Given the description of an element on the screen output the (x, y) to click on. 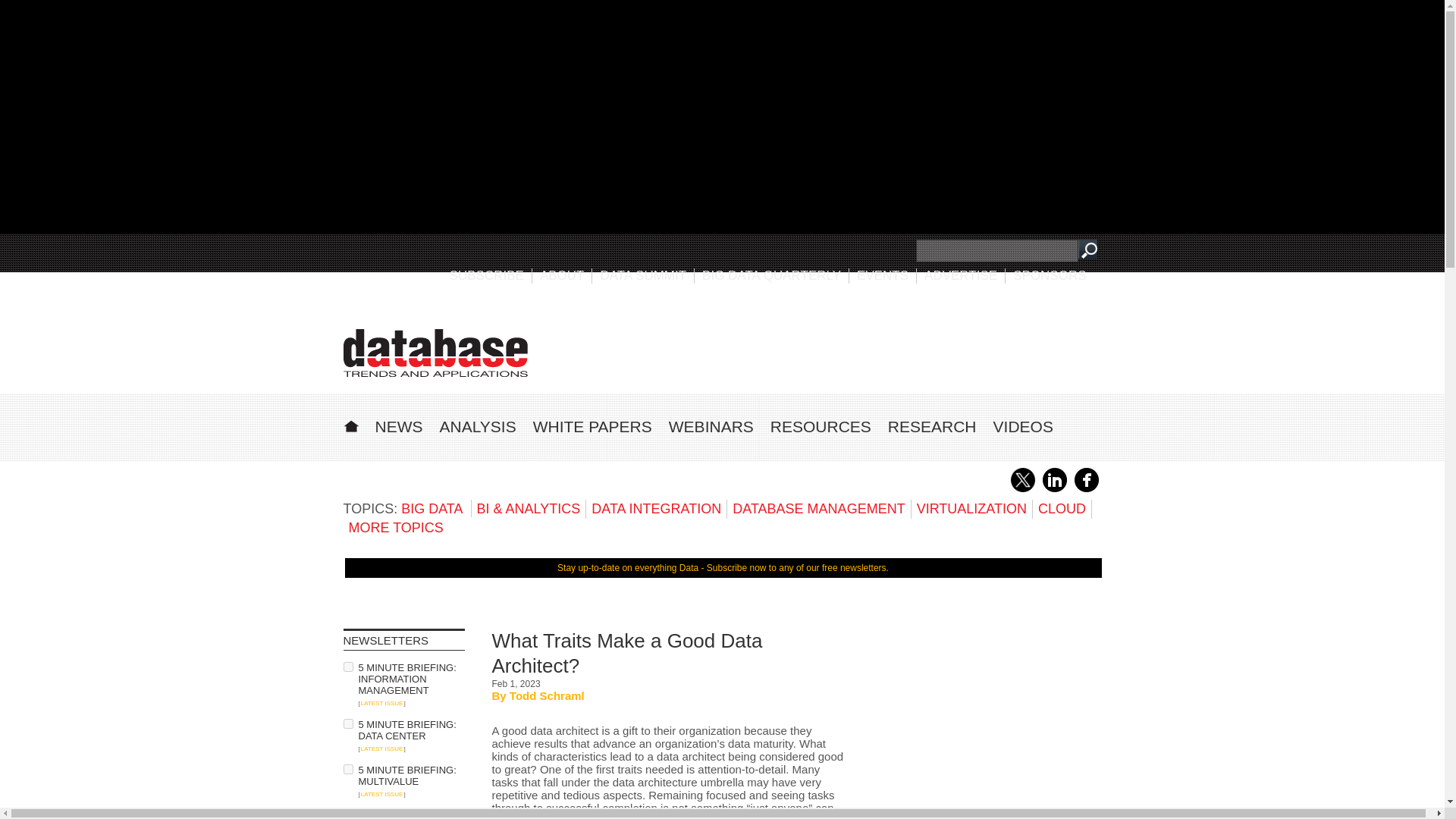
on (347, 723)
DATA SUMMIT (642, 275)
RESEARCH (932, 425)
ADVERTISE (960, 275)
ANALYSIS (477, 425)
Database Trends and Applications Home (350, 424)
Click for more articles by this author (547, 695)
WEBINARS (711, 425)
SUBSCRIBE (486, 275)
on (347, 814)
BIG DATA QUARTERLY (771, 275)
DBTA on Facebook (1085, 489)
on (347, 666)
